Given the description of an element on the screen output the (x, y) to click on. 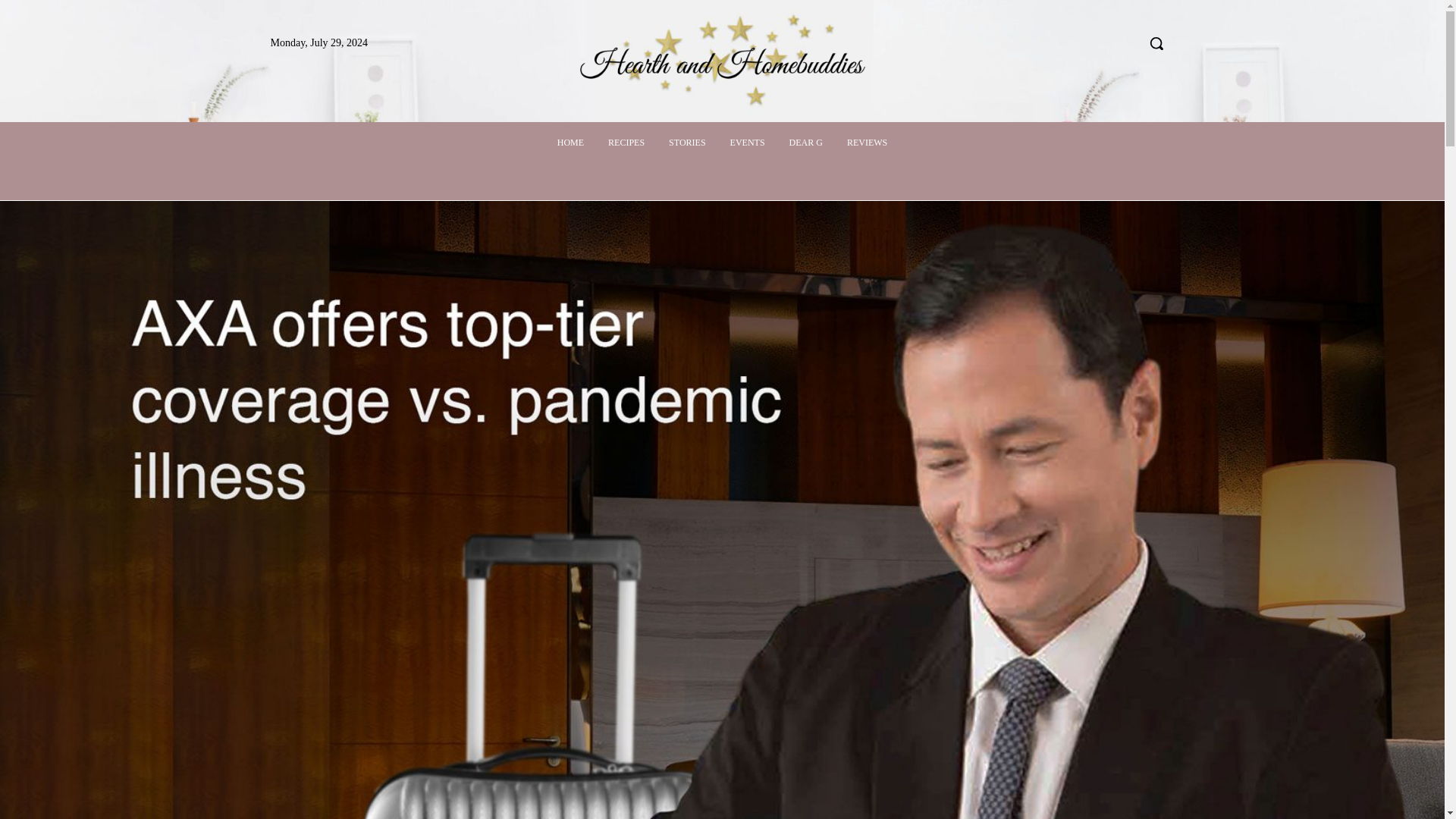
DEAR G (805, 142)
HOME (569, 142)
REVIEWS (866, 142)
STORIES (686, 142)
EVENTS (747, 142)
RECIPES (625, 142)
